Given the description of an element on the screen output the (x, y) to click on. 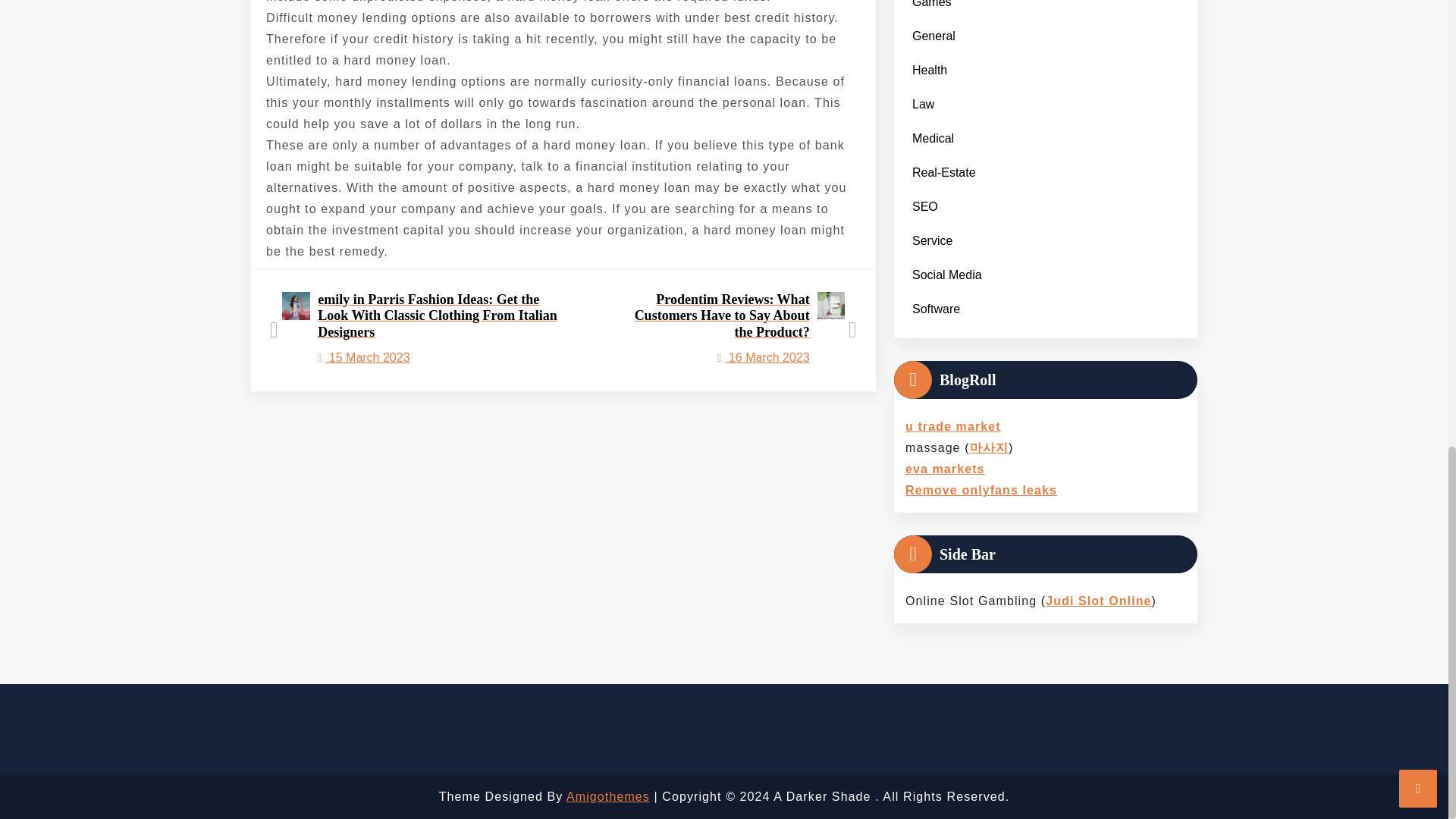
Health (929, 69)
Games (931, 7)
General (933, 35)
